Given the description of an element on the screen output the (x, y) to click on. 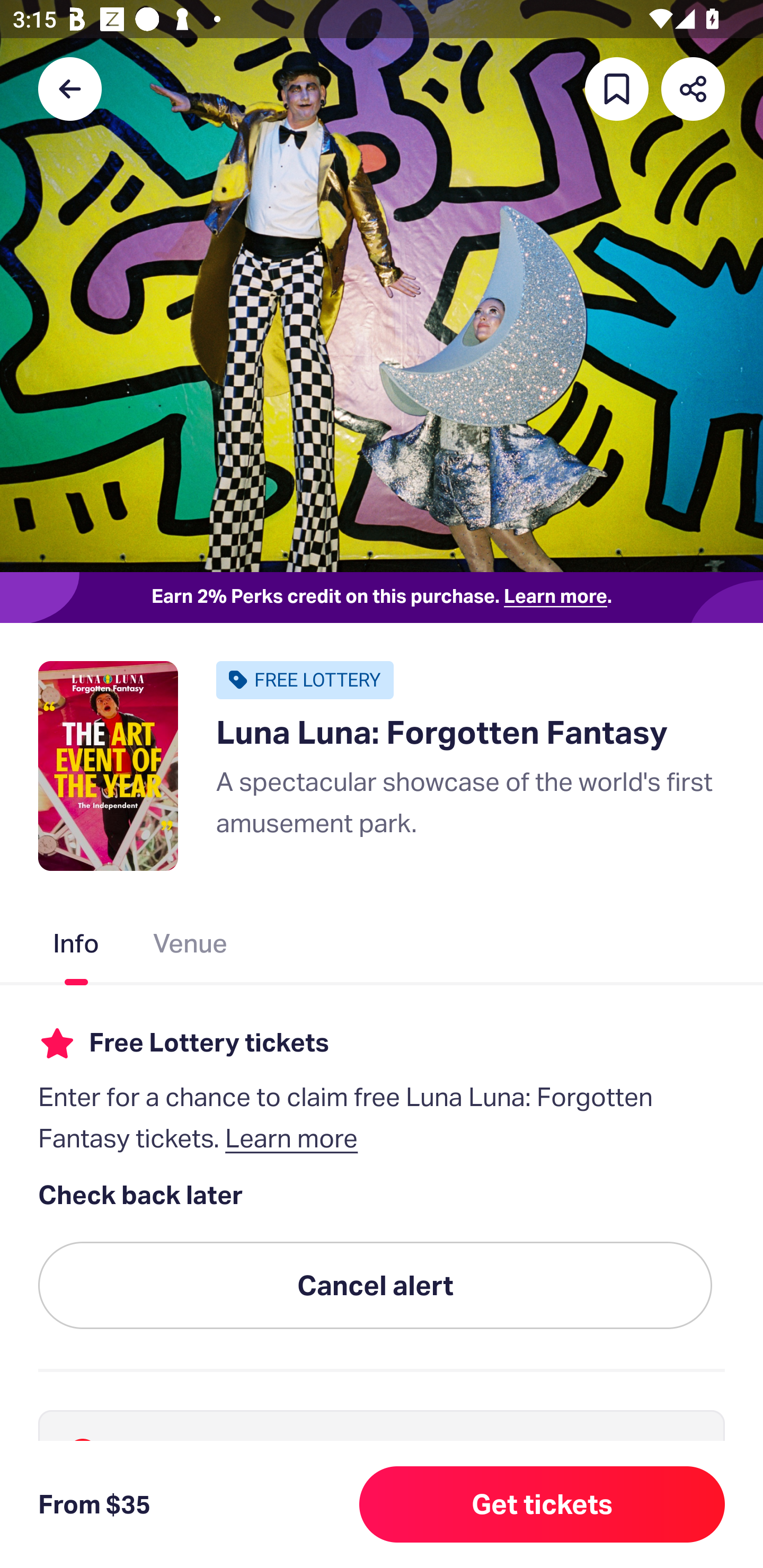
Earn 2% Perks credit on this purchase. Learn more. (381, 597)
Venue (190, 946)
Cancel alert (374, 1286)
Get tickets (541, 1504)
